Given the description of an element on the screen output the (x, y) to click on. 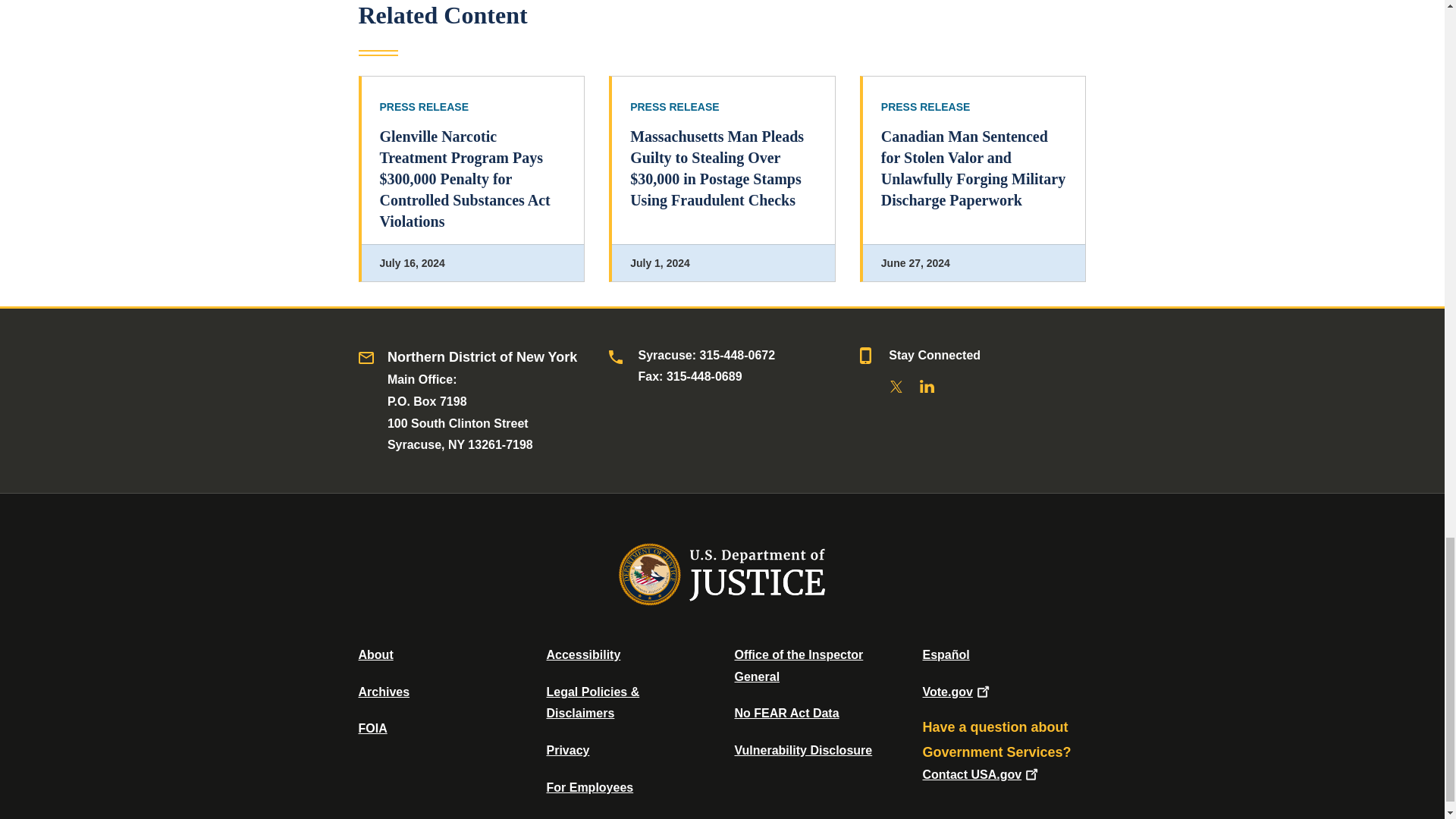
Accessibility Statement (583, 654)
Data Posted Pursuant To The No Fear Act (785, 712)
For Employees (589, 787)
Department of Justice Archive (383, 691)
About DOJ (375, 654)
Office of Information Policy (372, 727)
Legal Policies and Disclaimers (592, 702)
